Given the description of an element on the screen output the (x, y) to click on. 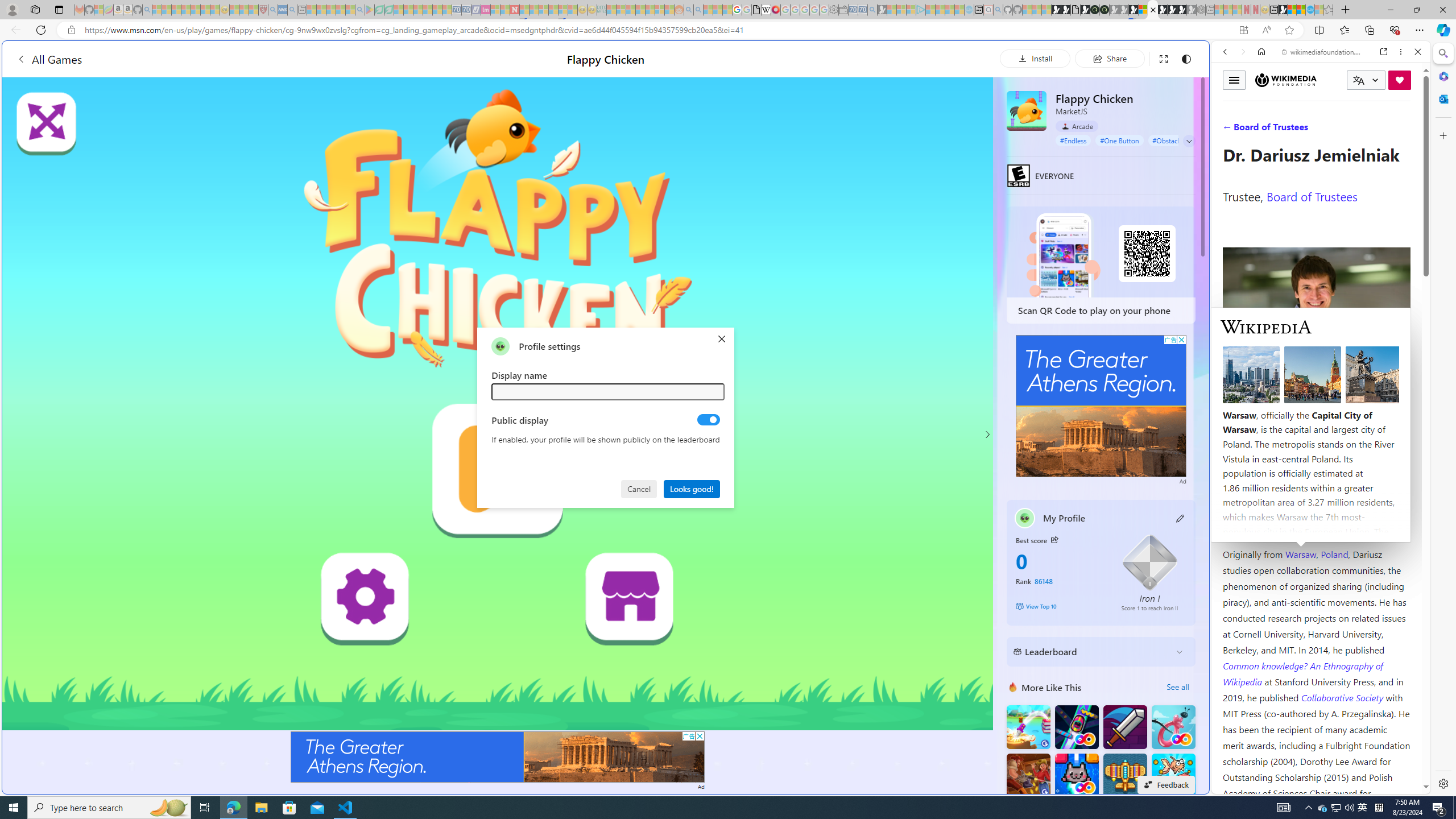
Settings - Sleeping (833, 9)
Warsaw (1300, 554)
Local - MSN - Sleeping (253, 9)
View Top 10 (1060, 605)
Class: control (1188, 140)
Kinda Frugal - MSN - Sleeping (649, 9)
SEARCH TOOLS (1350, 130)
Bluey: Let's Play! - Apps on Google Play - Sleeping (369, 9)
Arcade (1076, 125)
Advertisement (1101, 405)
#One Button (1119, 140)
